Given the description of an element on the screen output the (x, y) to click on. 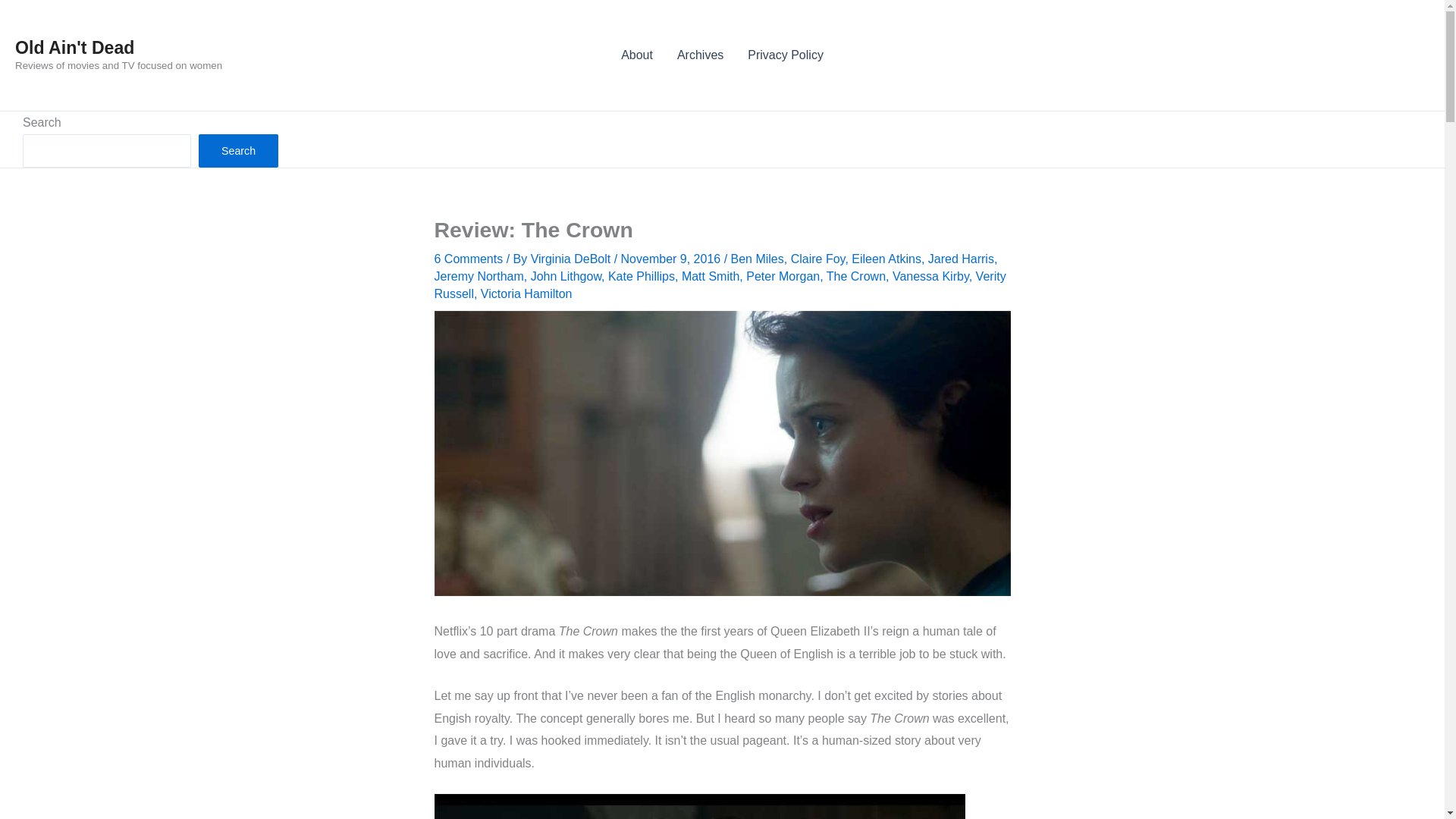
View all posts by Virginia DeBolt (572, 258)
Jeremy Northam (477, 276)
The Crown (856, 276)
Search (238, 150)
Jared Harris (961, 258)
Eileen Atkins (886, 258)
Old Ain't Dead (73, 47)
Victoria Hamilton (526, 293)
Claire Foy (817, 258)
Peter Morgan (782, 276)
Ben Miles (757, 258)
Kate Phillips (641, 276)
Verity Russell (719, 285)
Privacy Policy (785, 55)
Vanessa Kirby (930, 276)
